Given the description of an element on the screen output the (x, y) to click on. 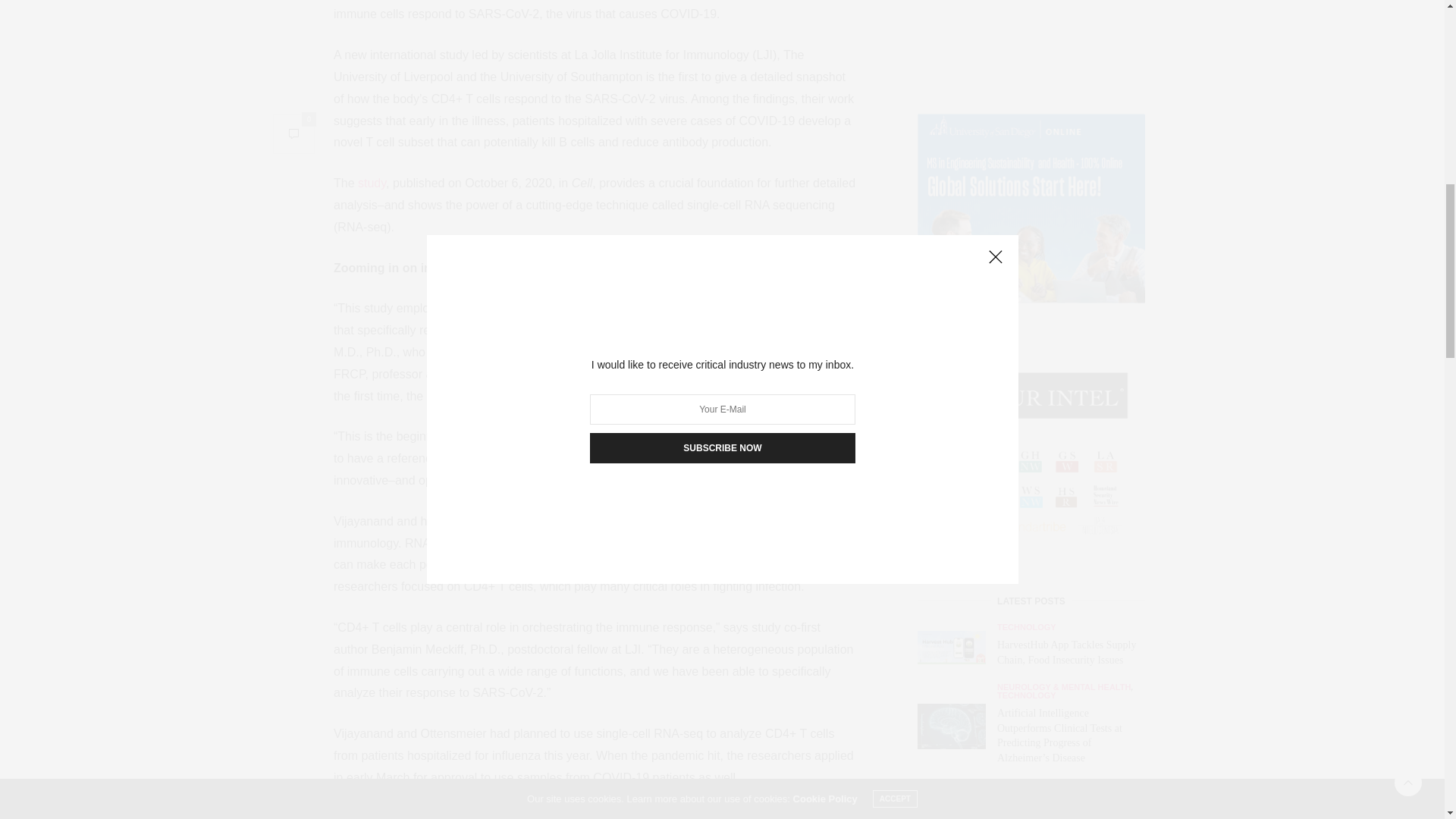
HarvestHub App Tackles Supply Chain, Food Insecurity Issues (1066, 3)
HarvestHub App Tackles Supply Chain, Food Insecurity Issues (957, 2)
Auto Draft (951, 361)
study (371, 182)
HarvestHub App Tackles Supply Chain, Food Insecurity Issues (951, 2)
SUBSCRIBE (1030, 569)
